Given the description of an element on the screen output the (x, y) to click on. 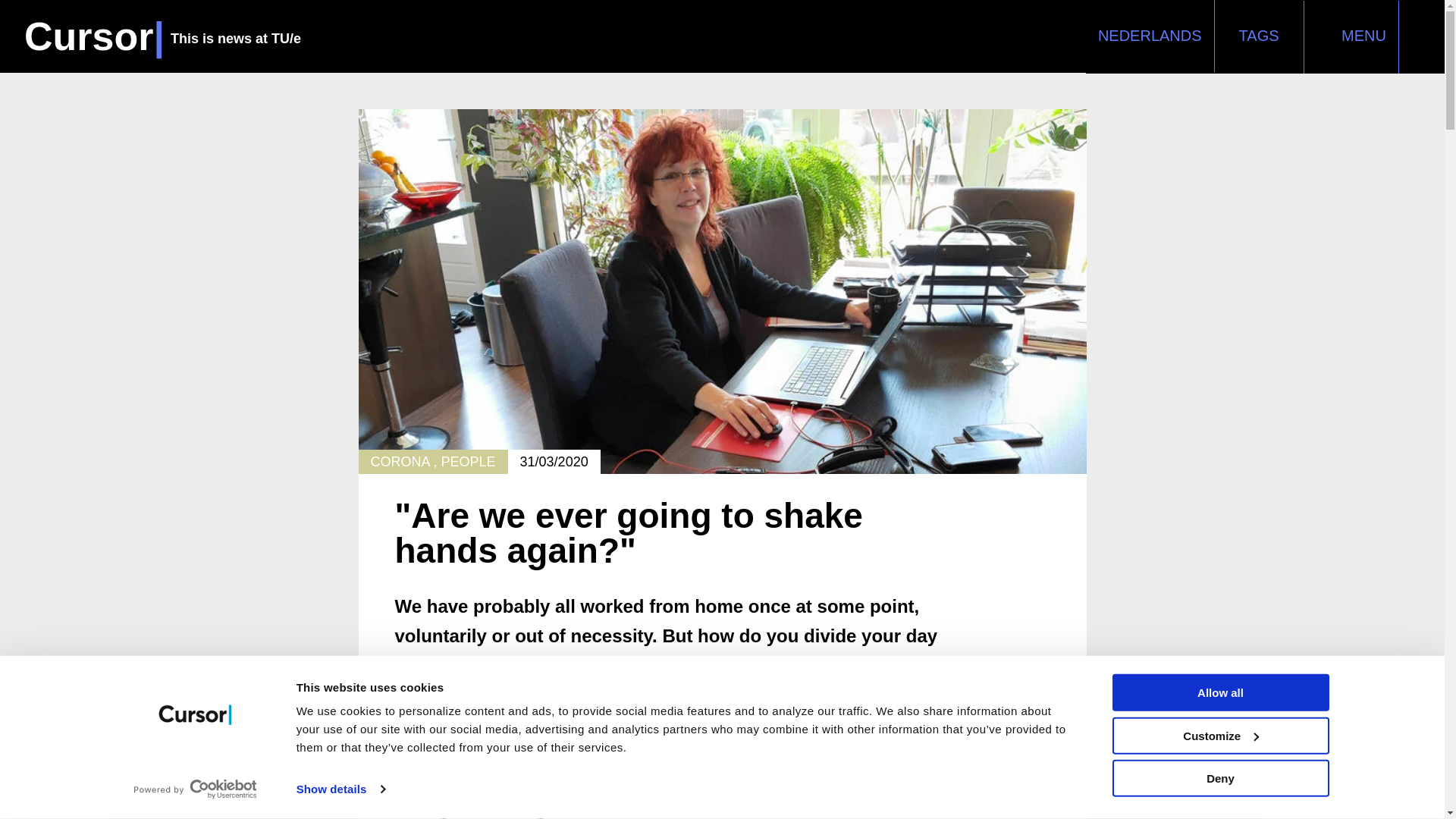
Verander taal (1150, 35)
Go to homepage (162, 36)
Show details (340, 789)
